Given the description of an element on the screen output the (x, y) to click on. 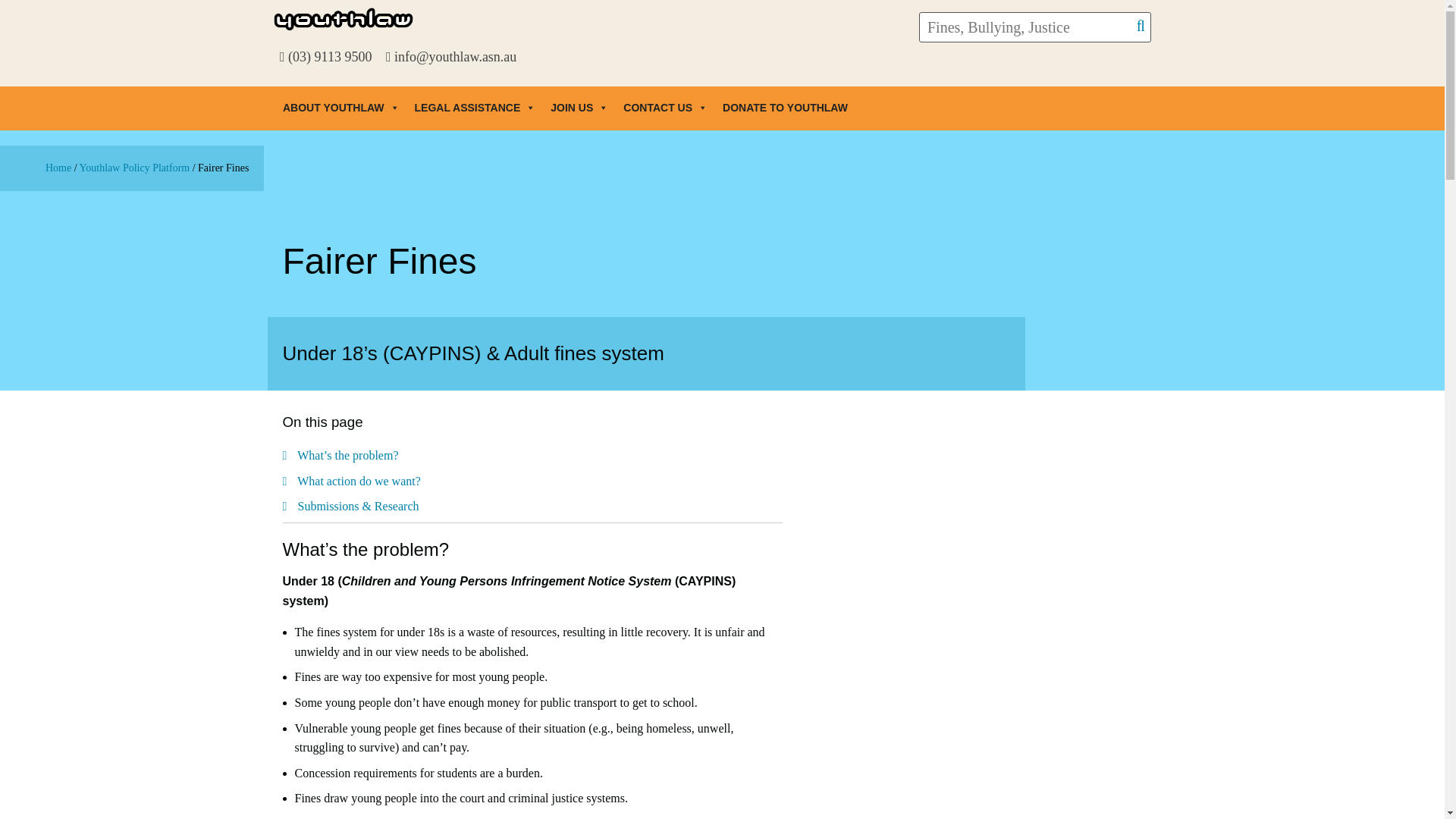
Go to Youthlaw. (58, 167)
LEGAL ASSISTANCE (475, 107)
DONATE TO YOUTHLAW (785, 107)
Go to Youthlaw Policy Platform. (135, 167)
ABOUT YOUTHLAW (341, 107)
JOIN US (579, 107)
CONTACT US (664, 107)
Search for: (1034, 27)
